Given the description of an element on the screen output the (x, y) to click on. 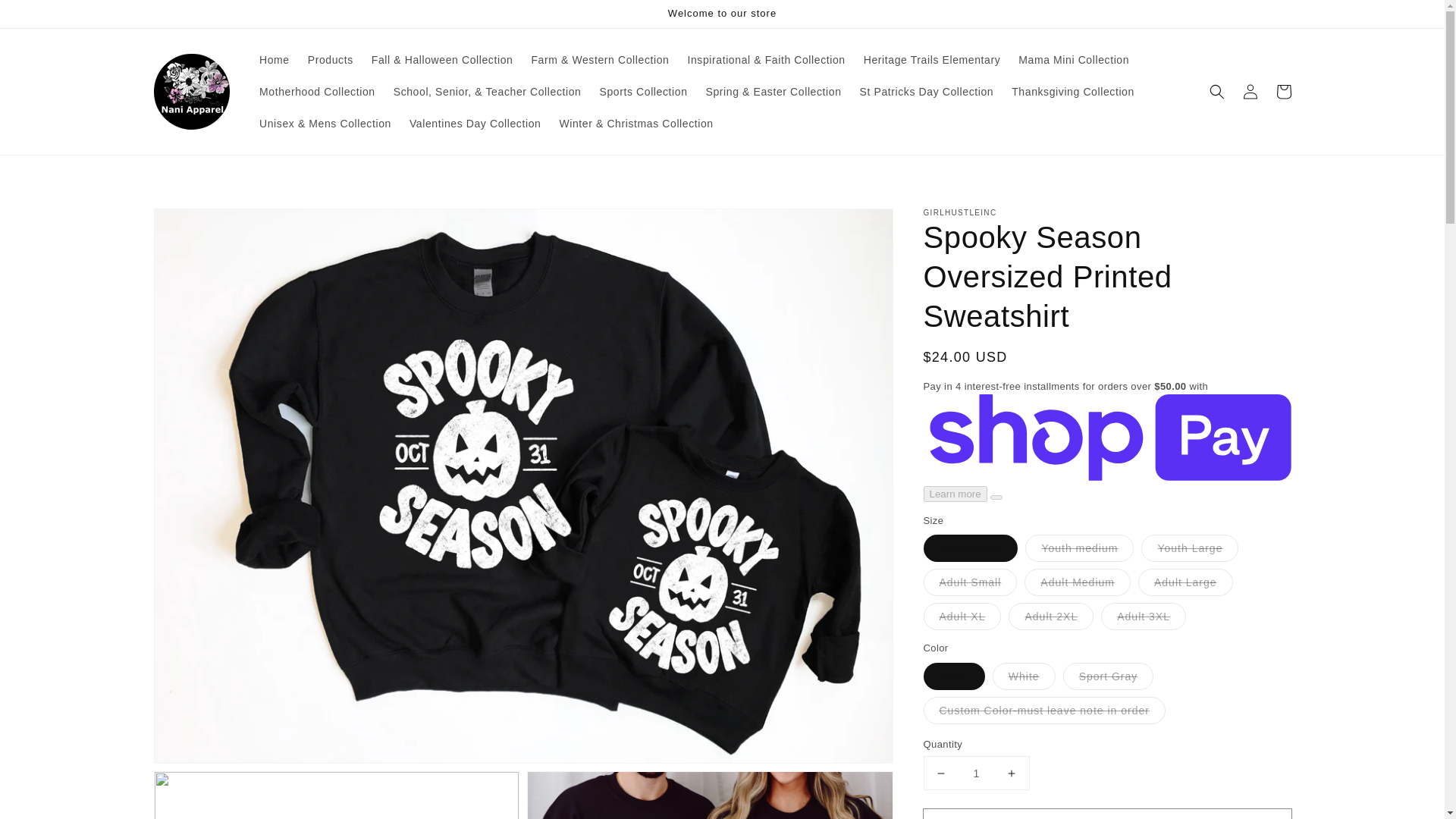
Thanksgiving Collection (1072, 91)
Products (330, 60)
Sports Collection (642, 91)
Home (274, 60)
St Patricks Day Collection (926, 91)
